Given the description of an element on the screen output the (x, y) to click on. 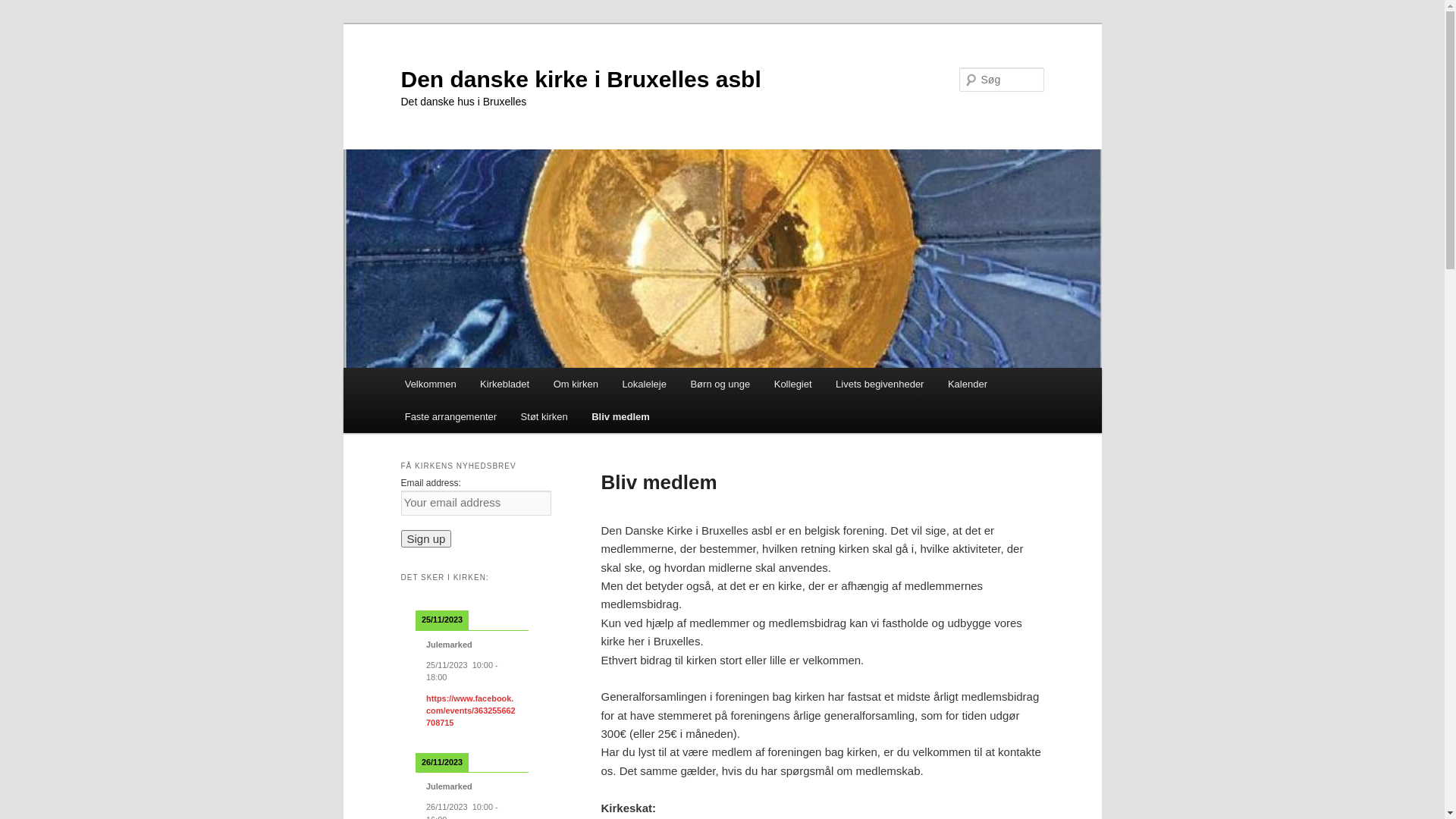
Sign up Element type: text (425, 538)
Lokaleleje Element type: text (644, 383)
Kollegiet Element type: text (792, 383)
Kirkebladet Element type: text (504, 383)
Livets begivenheder Element type: text (879, 383)
Den danske kirke i Bruxelles asbl Element type: text (580, 78)
Faste arrangementer Element type: text (450, 416)
Om kirken Element type: text (575, 383)
Kalender Element type: text (967, 383)
Bliv medlem Element type: text (620, 416)
Velkommen Element type: text (429, 383)
https://www.facebook.com/events/363255662708715 Element type: text (470, 710)
